Given the description of an element on the screen output the (x, y) to click on. 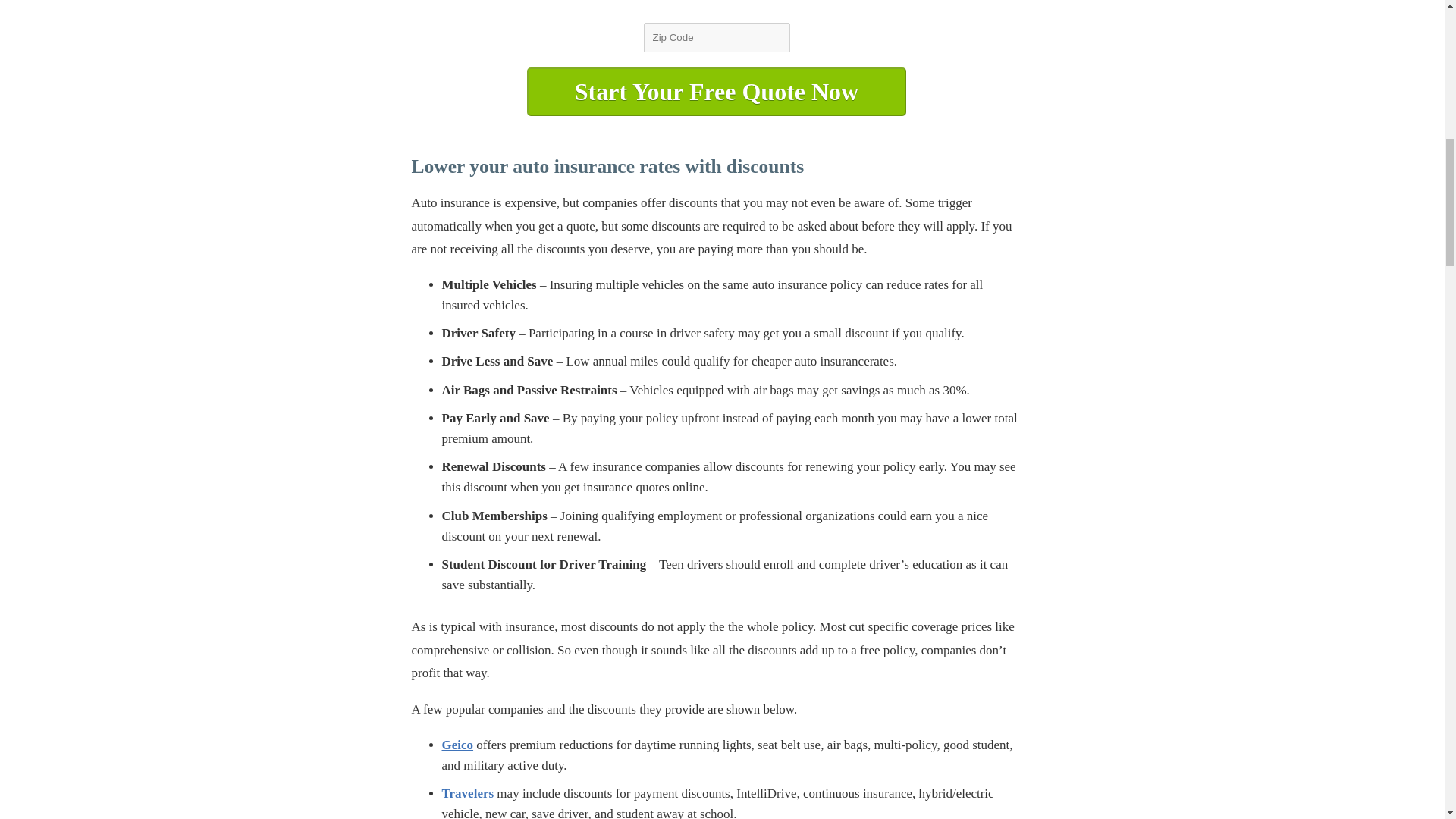
Geico (457, 744)
Zip Code must be filled out! (716, 37)
Tap to get your quotes! (716, 91)
Travelers (467, 793)
Start Your Free Quote Now (716, 91)
